Given the description of an element on the screen output the (x, y) to click on. 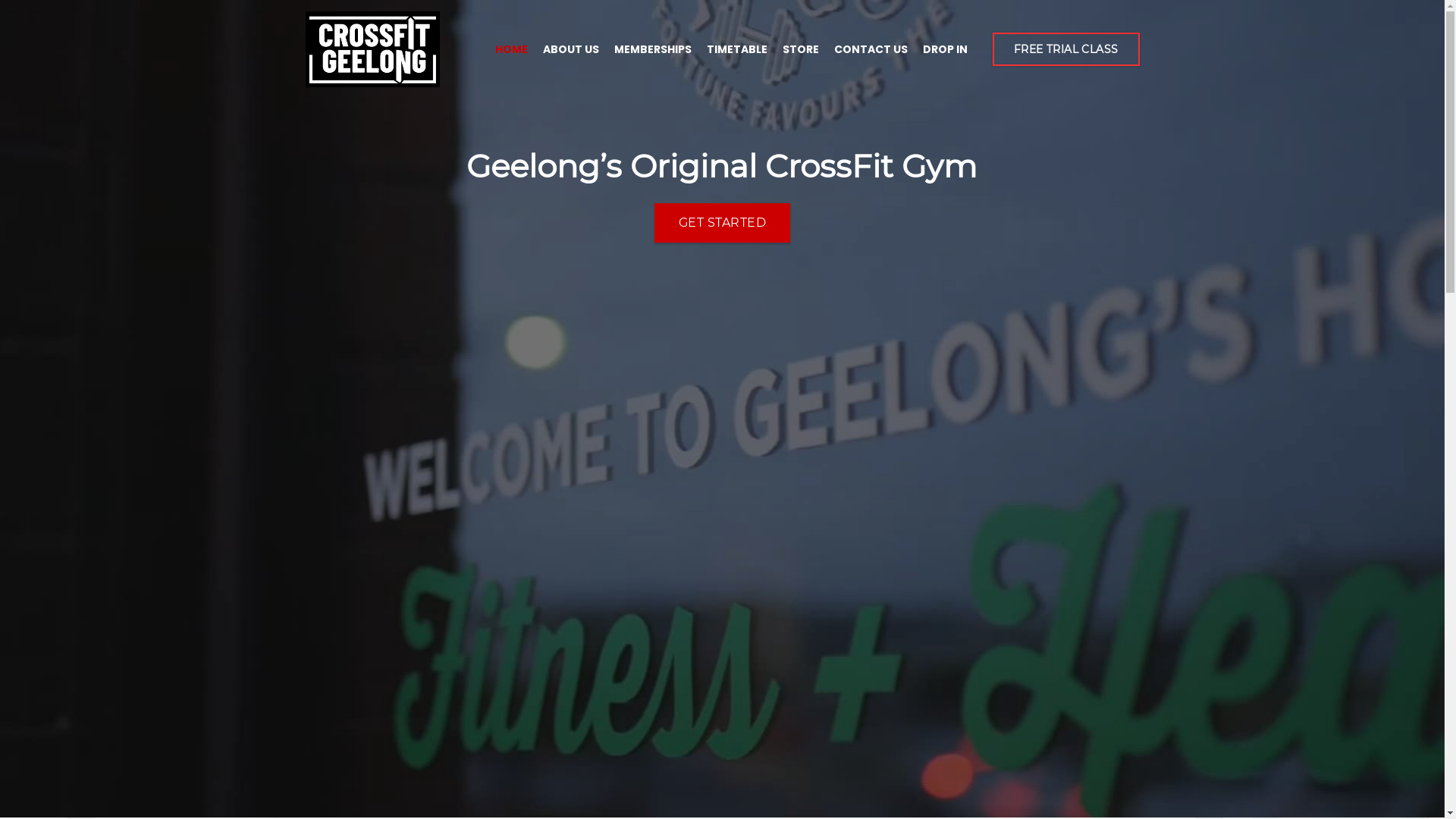
ABOUT US Element type: text (570, 49)
GET STARTED Element type: text (722, 222)
MEMBERSHIPS Element type: text (652, 49)
TIMETABLE Element type: text (737, 49)
STORE Element type: text (800, 49)
FREE TRIAL CLASS Element type: text (1065, 49)
HOME Element type: text (511, 49)
CONTACT US Element type: text (870, 49)
DROP IN Element type: text (945, 49)
